Given the description of an element on the screen output the (x, y) to click on. 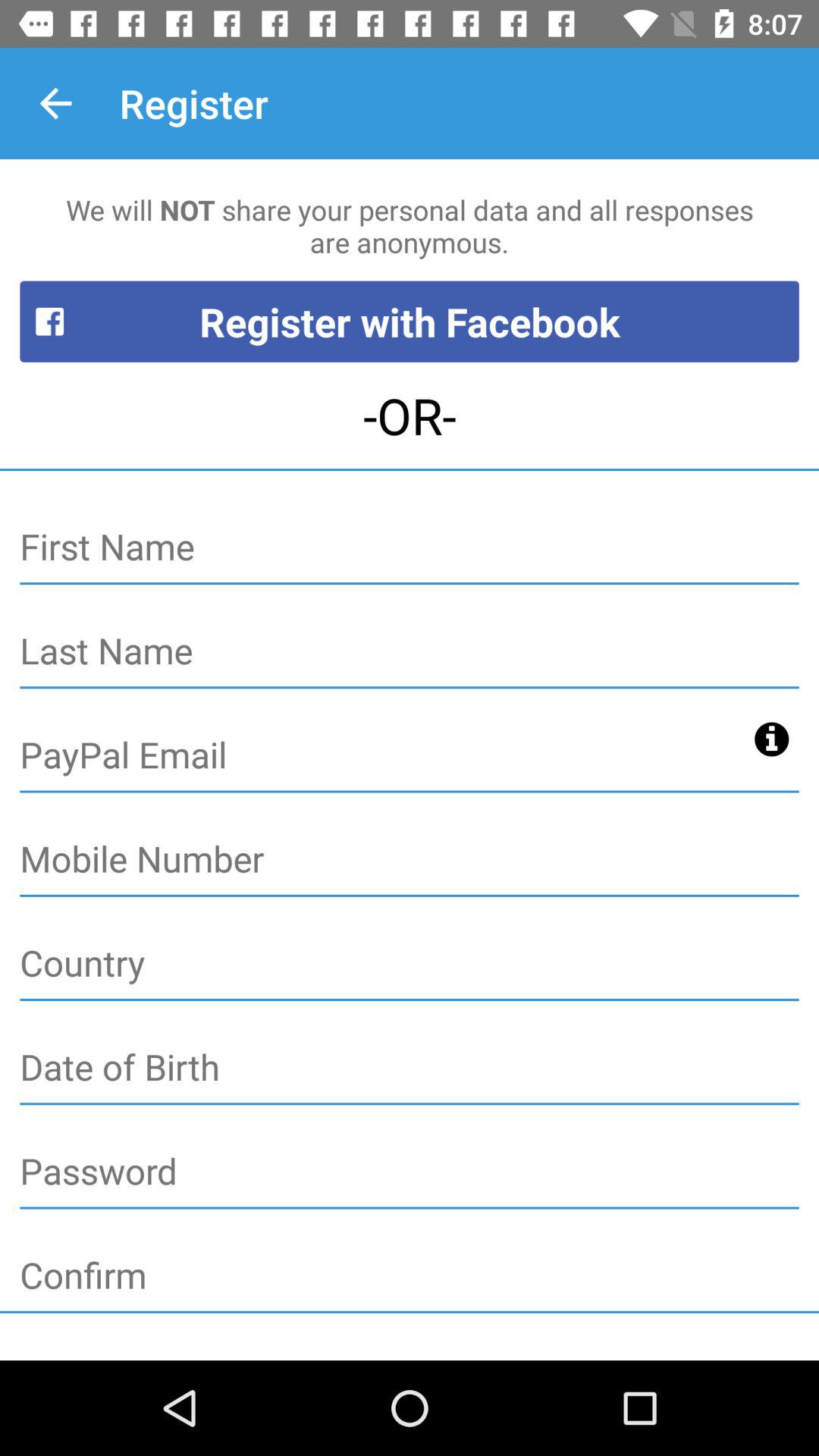
confirm password (409, 1276)
